Given the description of an element on the screen output the (x, y) to click on. 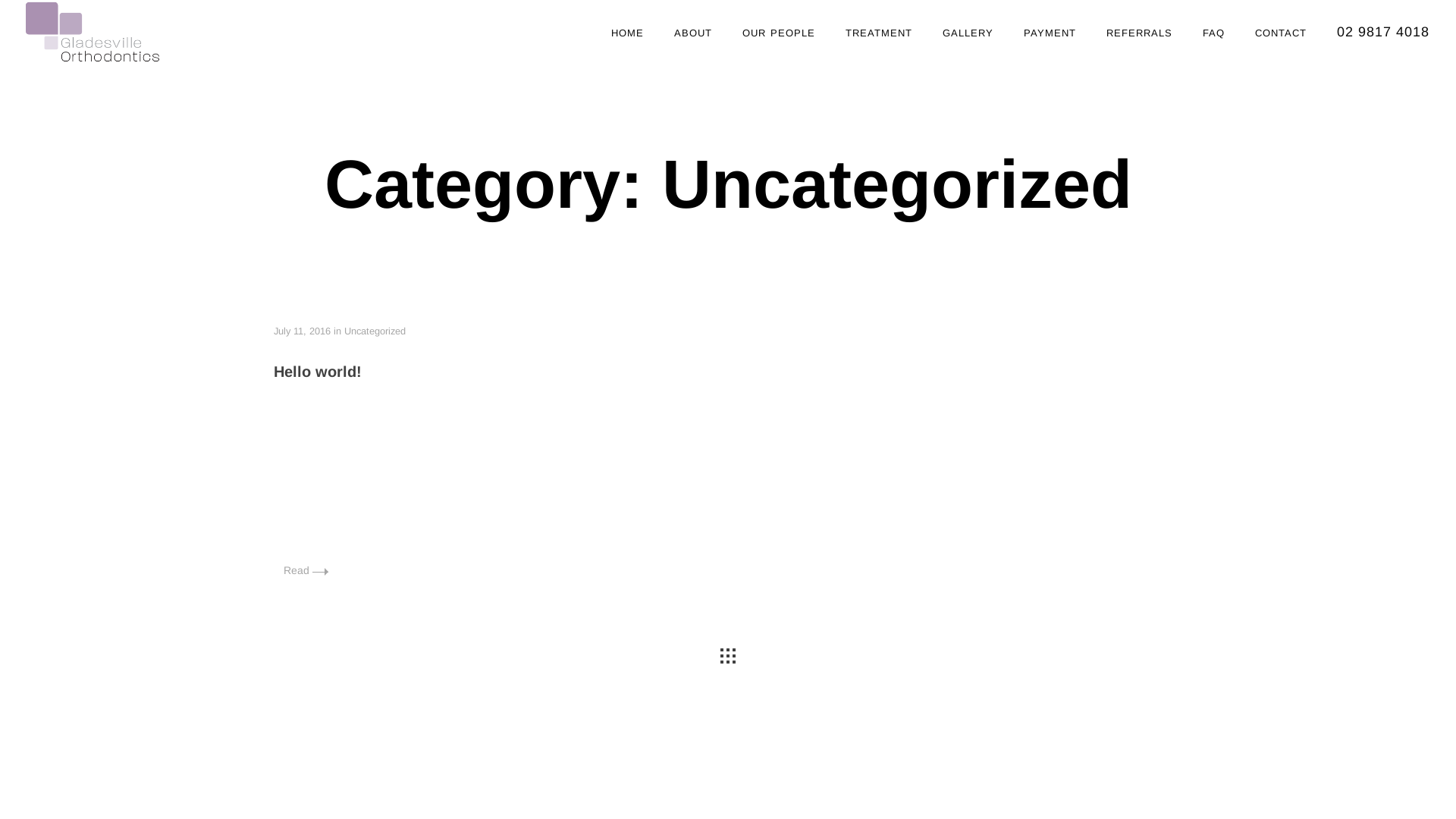
about Element type: text (692, 31)
gallery Element type: text (967, 31)
02 9817 4018 Element type: text (1382, 31)
home Element type: text (627, 31)
Hello world! Element type: text (317, 371)
treatment Element type: text (878, 31)
contact Element type: text (1280, 31)
referrals Element type: text (1139, 31)
Uncategorized Element type: text (374, 331)
our people Element type: text (778, 31)
faq Element type: text (1213, 31)
payment Element type: text (1049, 31)
Read Element type: text (305, 570)
